Given the description of an element on the screen output the (x, y) to click on. 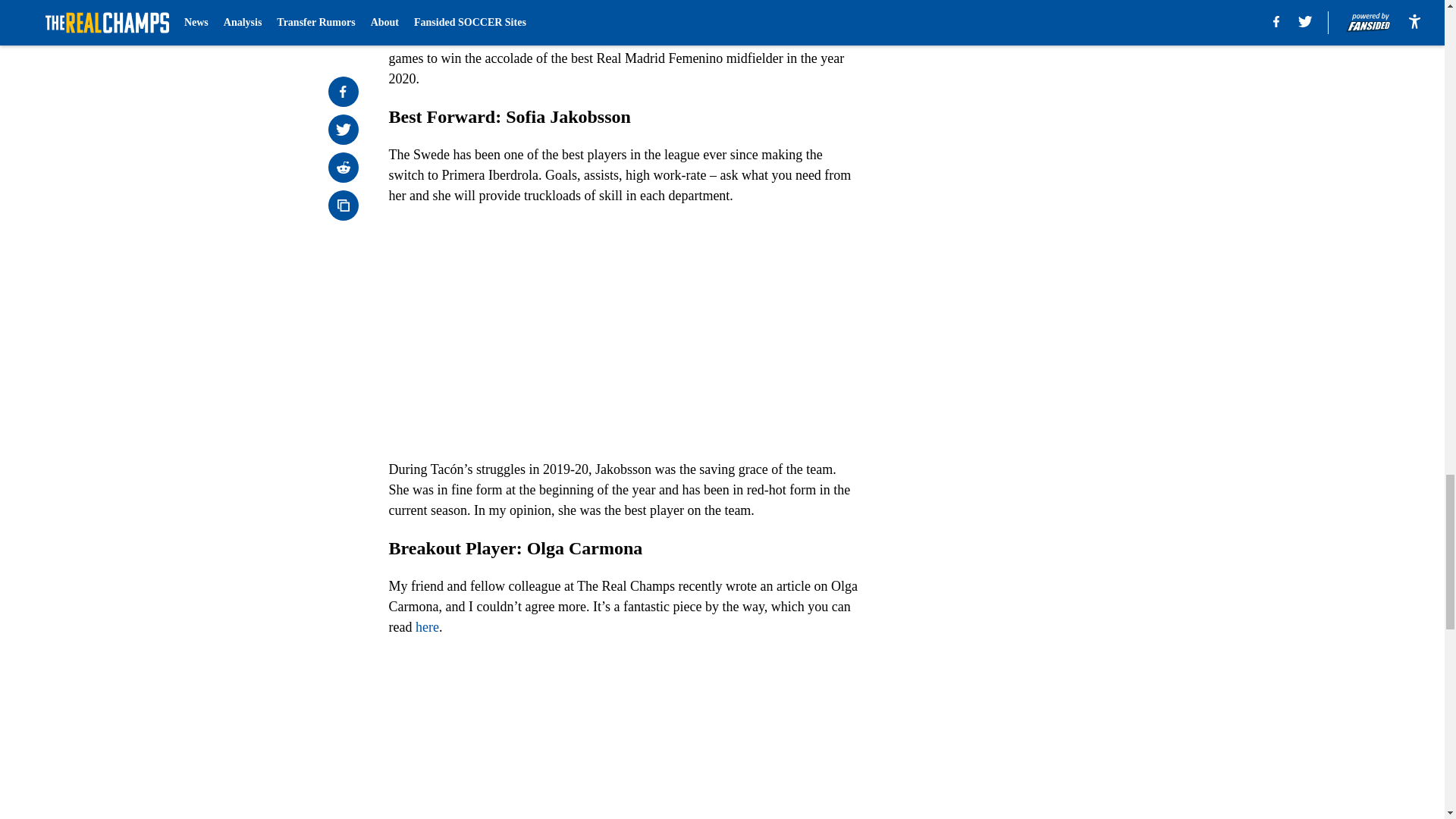
here (426, 626)
